Given the description of an element on the screen output the (x, y) to click on. 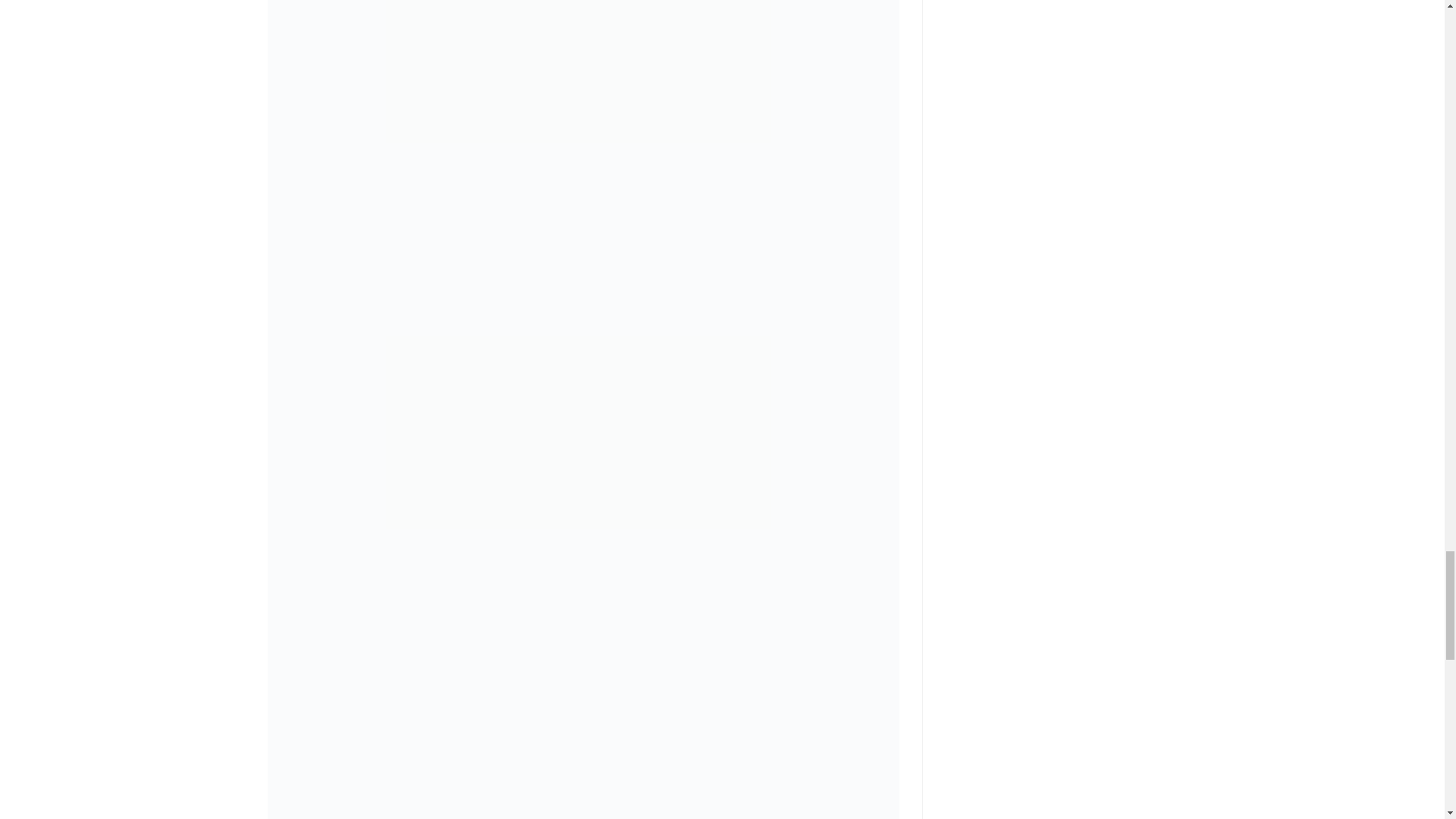
Artist in Paris 3 (582, 82)
